Given the description of an element on the screen output the (x, y) to click on. 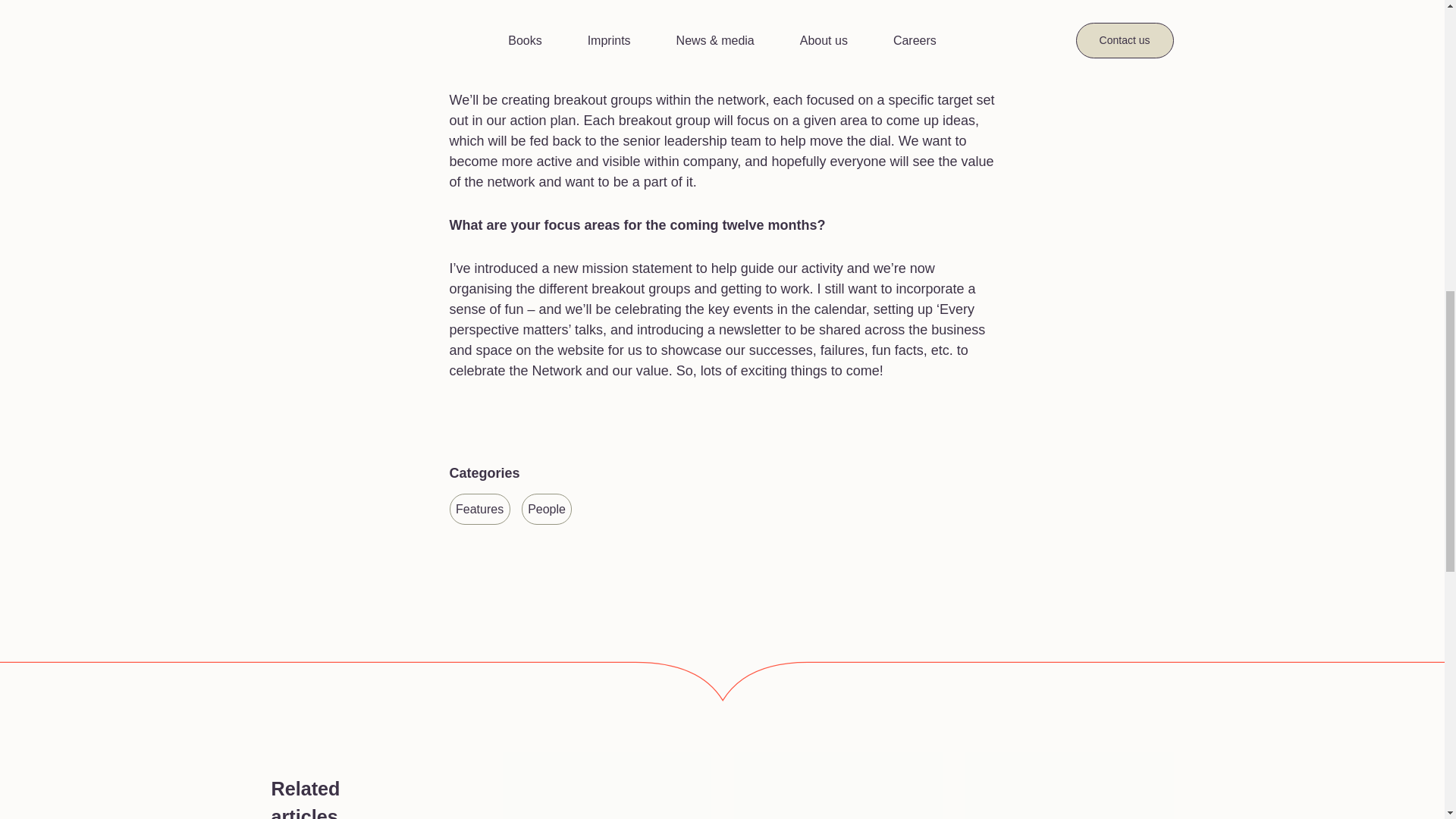
People (547, 509)
Features (479, 509)
